Given the description of an element on the screen output the (x, y) to click on. 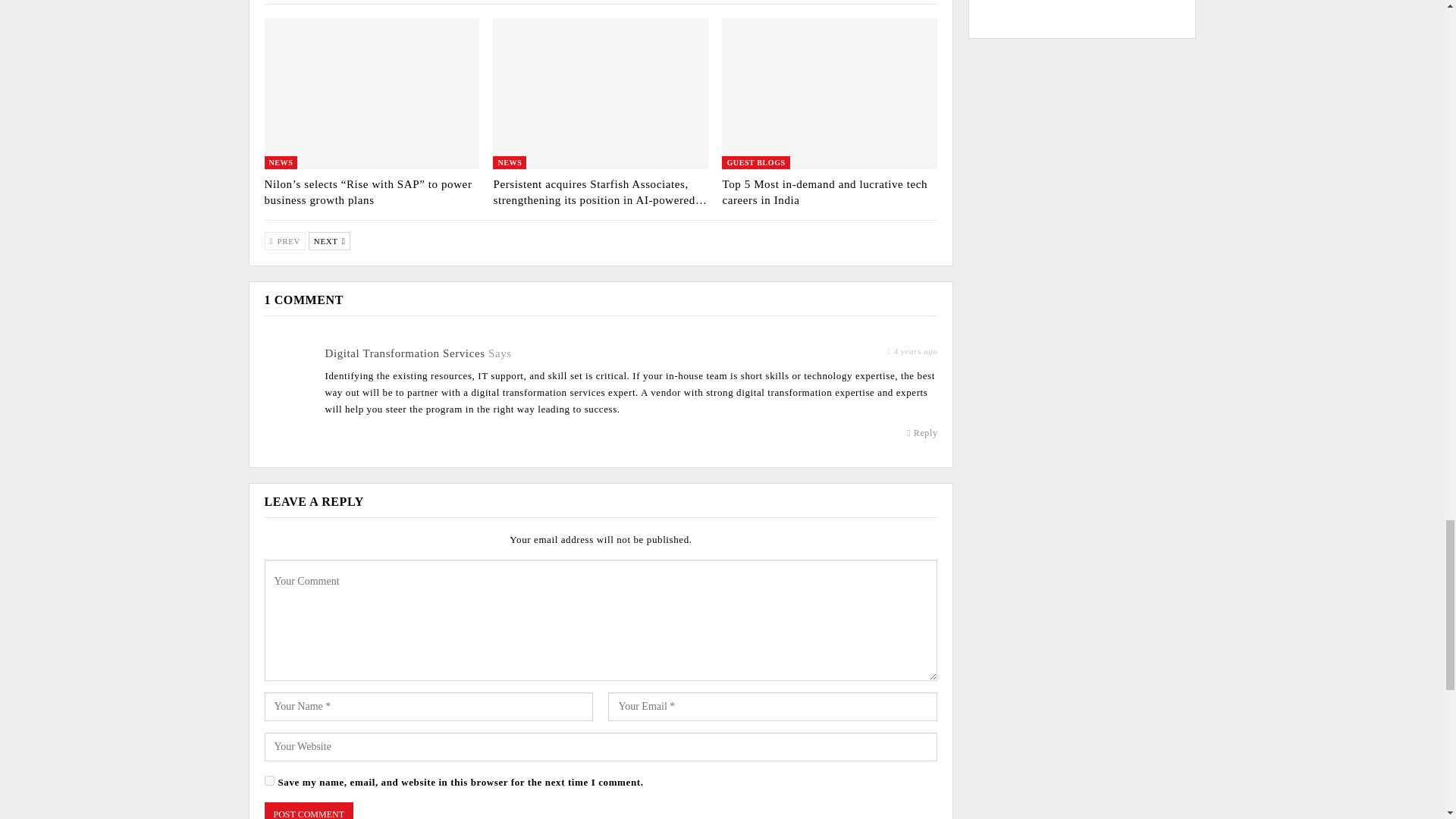
Top 5 Most in-demand and lucrative tech careers in India (829, 93)
Top 5 Most in-demand and lucrative tech careers in India (824, 192)
Previous (284, 240)
Post Comment (307, 810)
yes (268, 780)
